Given the description of an element on the screen output the (x, y) to click on. 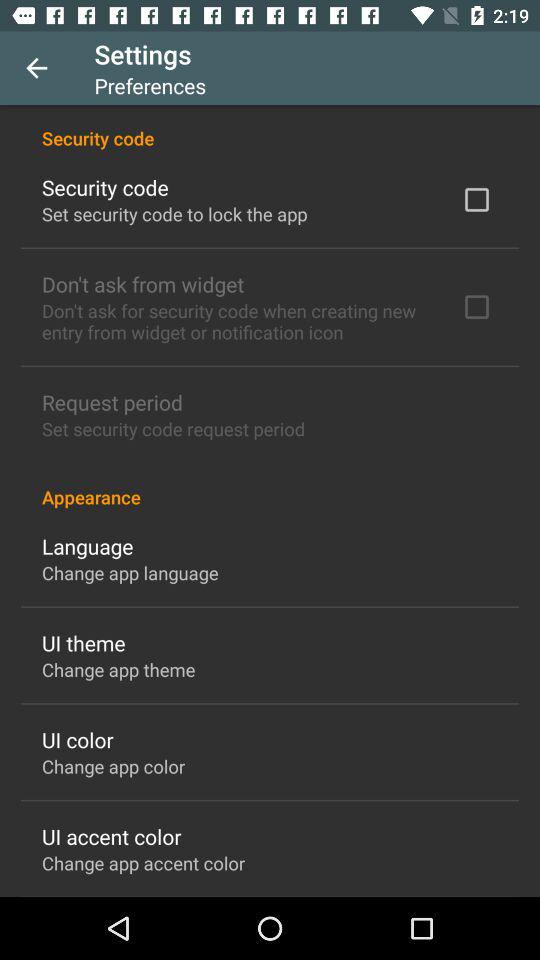
choose item next to the settings icon (36, 68)
